Given the description of an element on the screen output the (x, y) to click on. 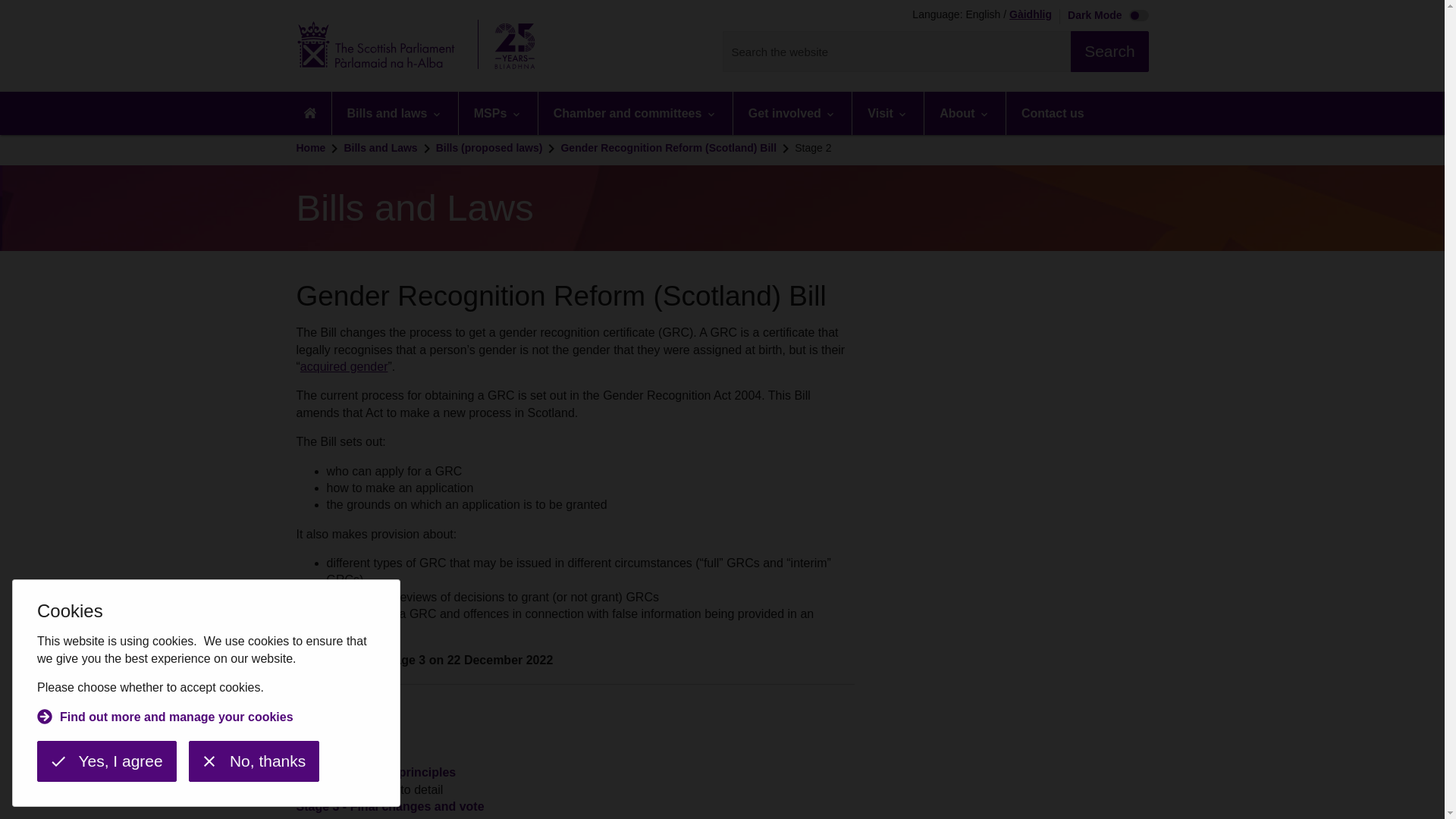
Search (1109, 51)
No, thanks (252, 761)
Bills and laws (394, 113)
Find out more and manage your cookies (165, 718)
Yes, I agree (106, 761)
Scottish Parliament Website home (419, 45)
Dark Mode (1103, 16)
MSPs (497, 113)
Chamber and committees (635, 113)
